Given the description of an element on the screen output the (x, y) to click on. 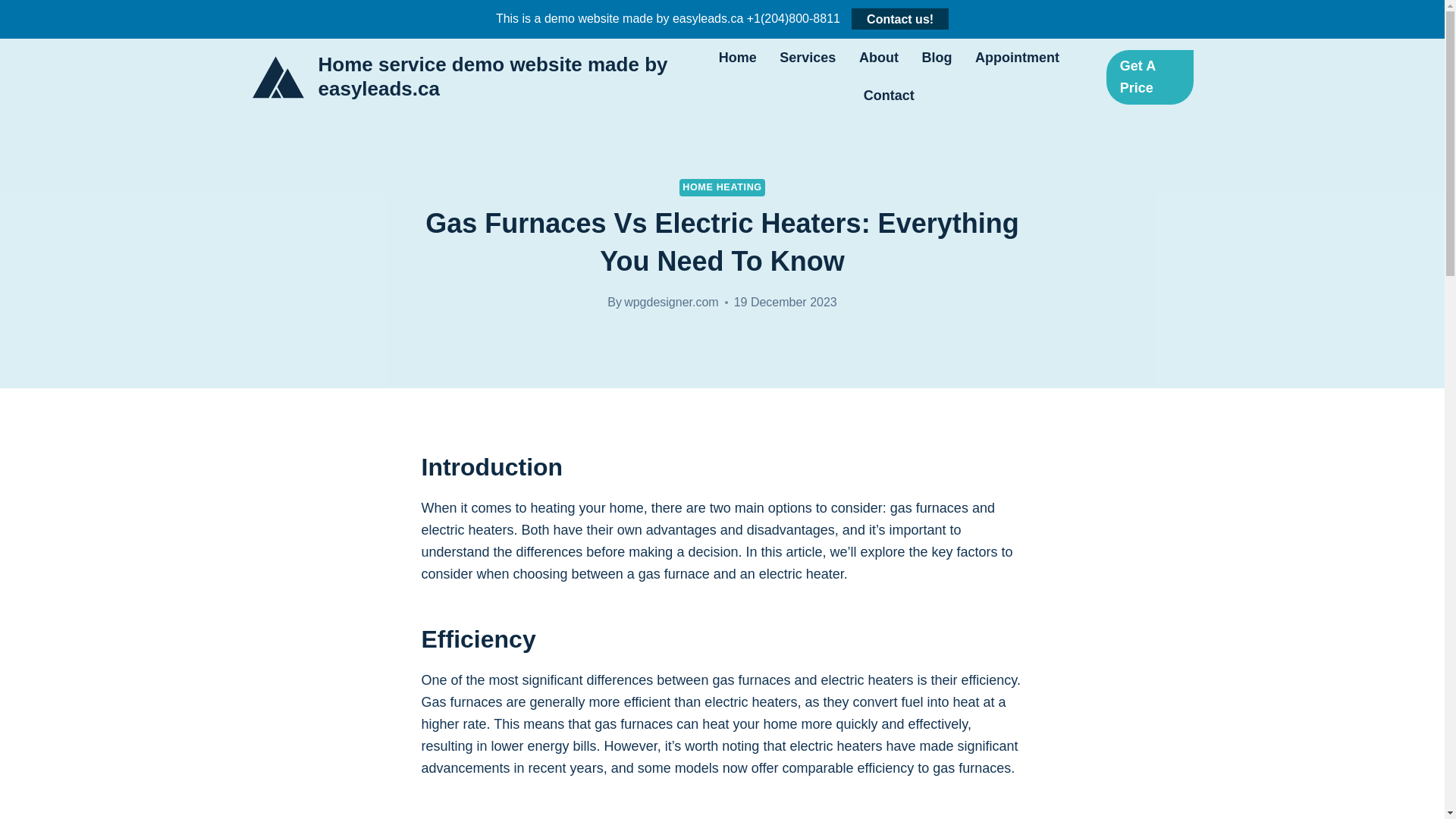
wpgdesigner.com (671, 301)
Get A Price (1149, 76)
Contact (888, 95)
Contact us! (900, 18)
HOME HEATING (722, 187)
Blog (936, 57)
About (879, 57)
Services (807, 57)
Home (737, 57)
Appointment (1017, 57)
